Given the description of an element on the screen output the (x, y) to click on. 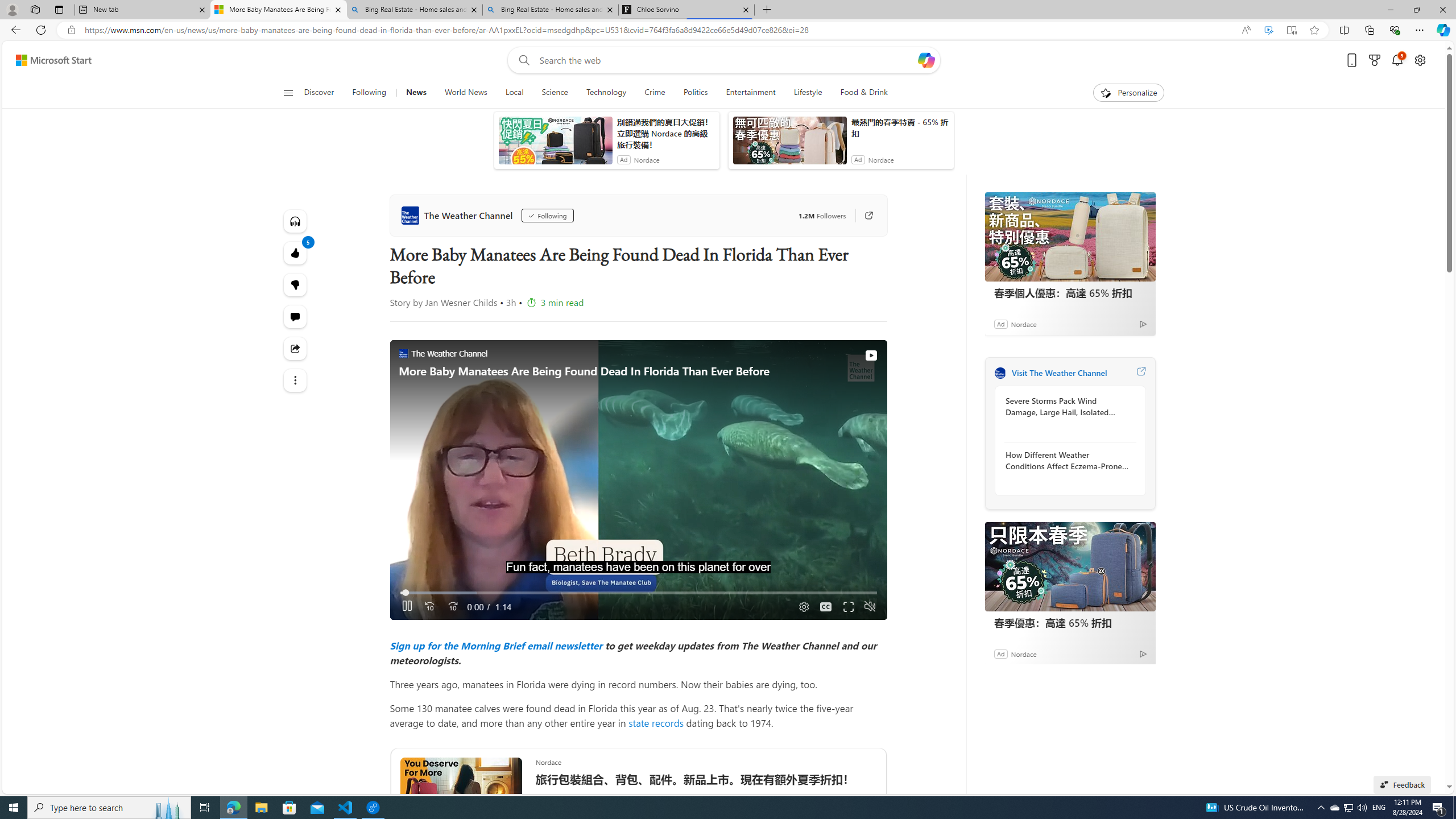
The Weather Channel (1000, 372)
Bing Real Estate - Home sales and rental listings (550, 9)
Entertainment (750, 92)
Open navigation menu (287, 92)
News (415, 92)
Local (514, 92)
Science (554, 92)
Listen to this article (295, 220)
Dislike (295, 284)
